Given the description of an element on the screen output the (x, y) to click on. 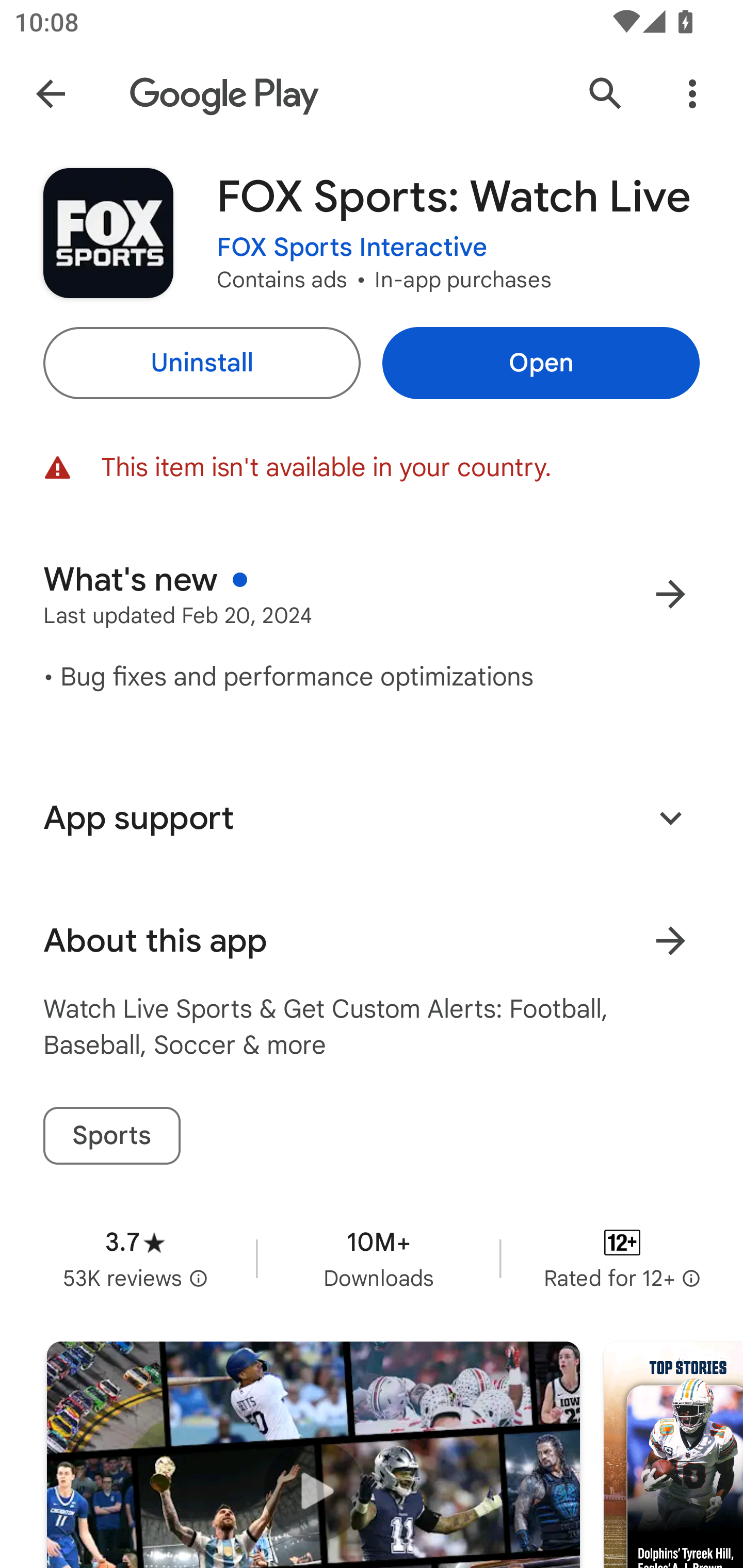
Navigate up (50, 93)
Search Google Play (605, 93)
More Options (692, 93)
FOX Sports Interactive (351, 247)
Uninstall (201, 362)
Open (540, 362)
More results for What's new (670, 594)
App support Expand (371, 817)
Expand (670, 817)
About this app Learn more About this app (371, 940)
Learn more About this app (670, 940)
Sports tag (111, 1135)
Average rating 3.7 stars in 53 thousand reviews (135, 1258)
Content rating Rated for 12+ (622, 1258)
Play trailer for "FOX Sports: Watch Live" (313, 1455)
